Given the description of an element on the screen output the (x, y) to click on. 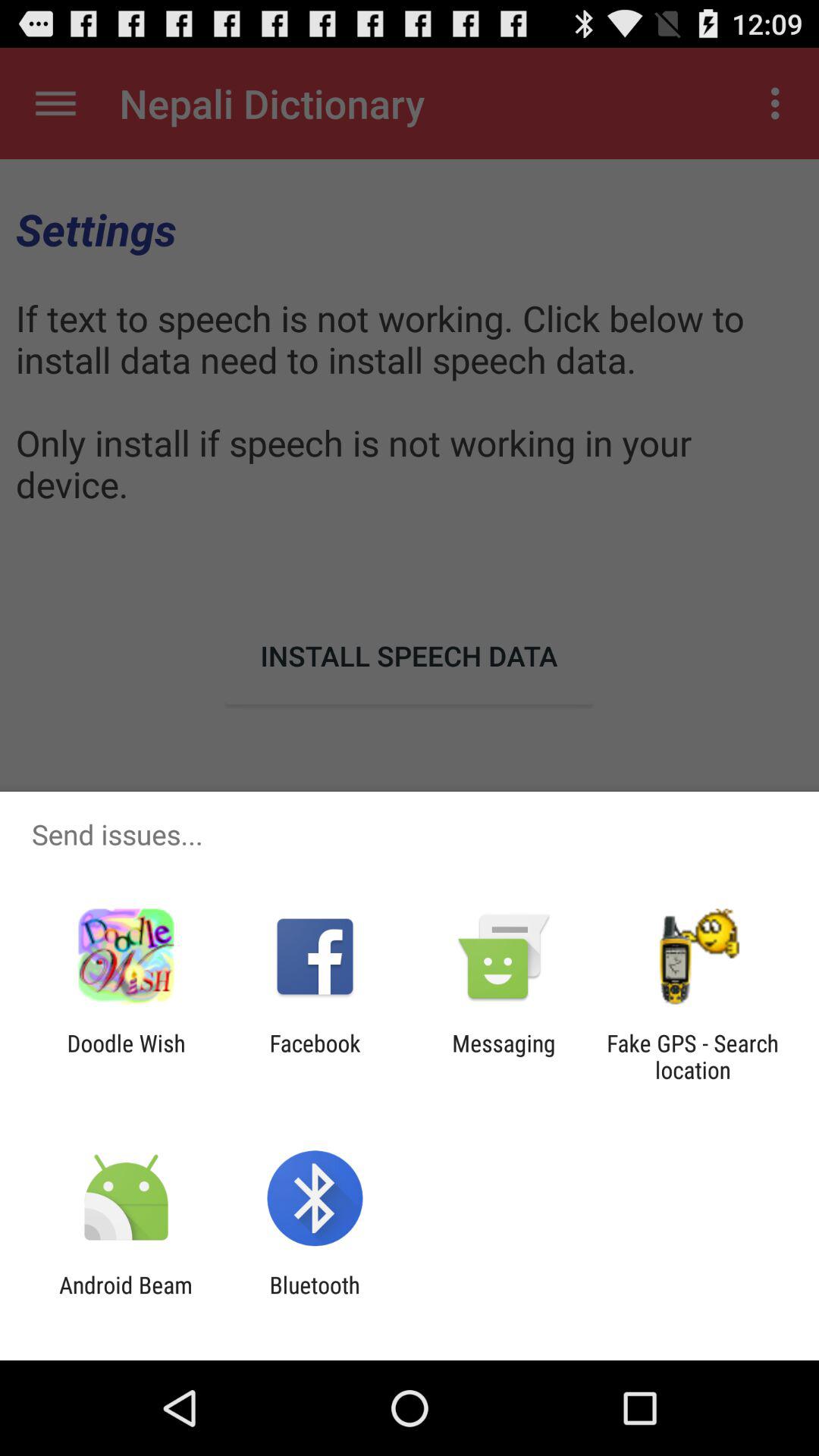
press item to the left of messaging (314, 1056)
